Given the description of an element on the screen output the (x, y) to click on. 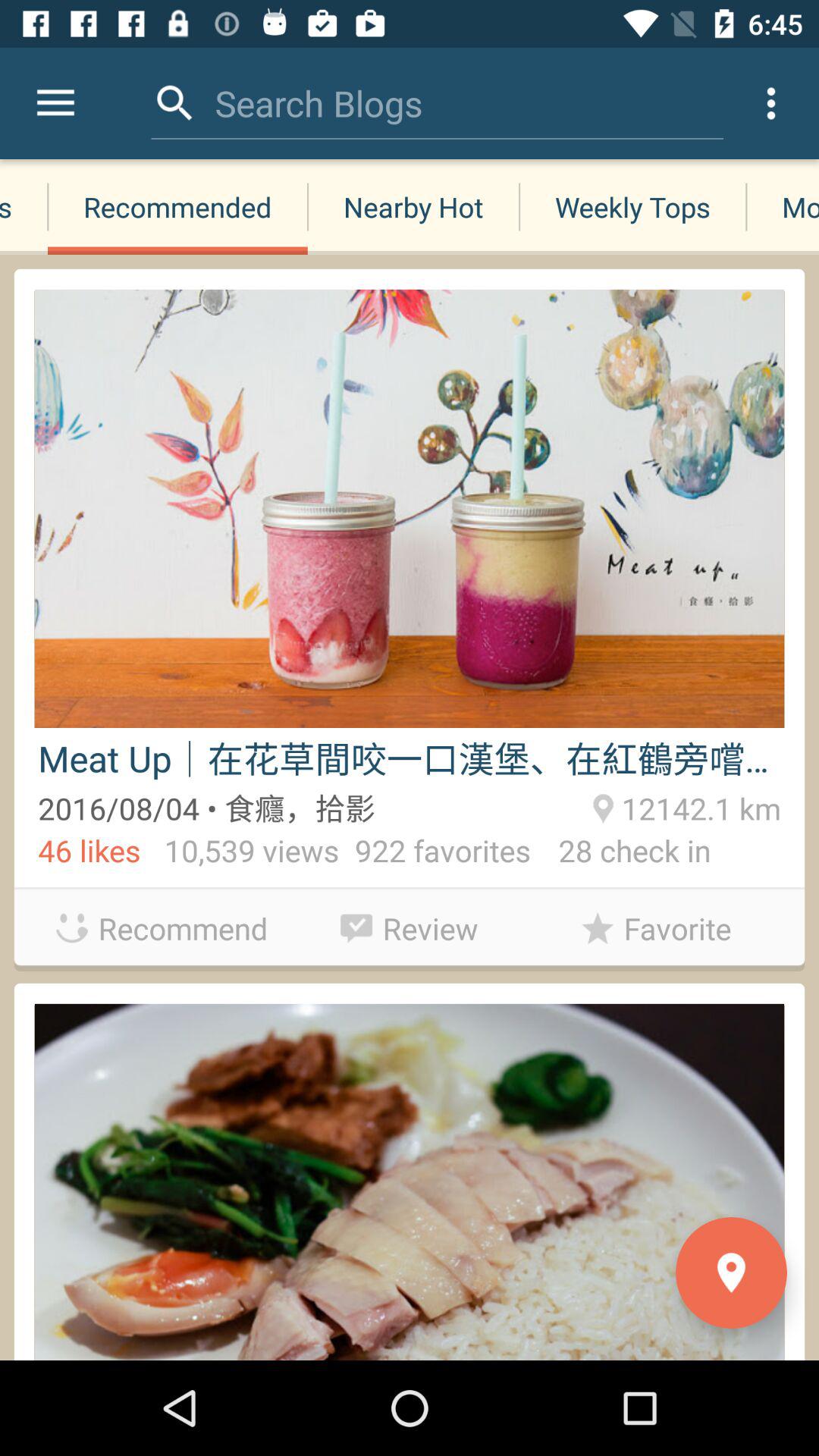
jump to 12142.1 km item (698, 806)
